Given the description of an element on the screen output the (x, y) to click on. 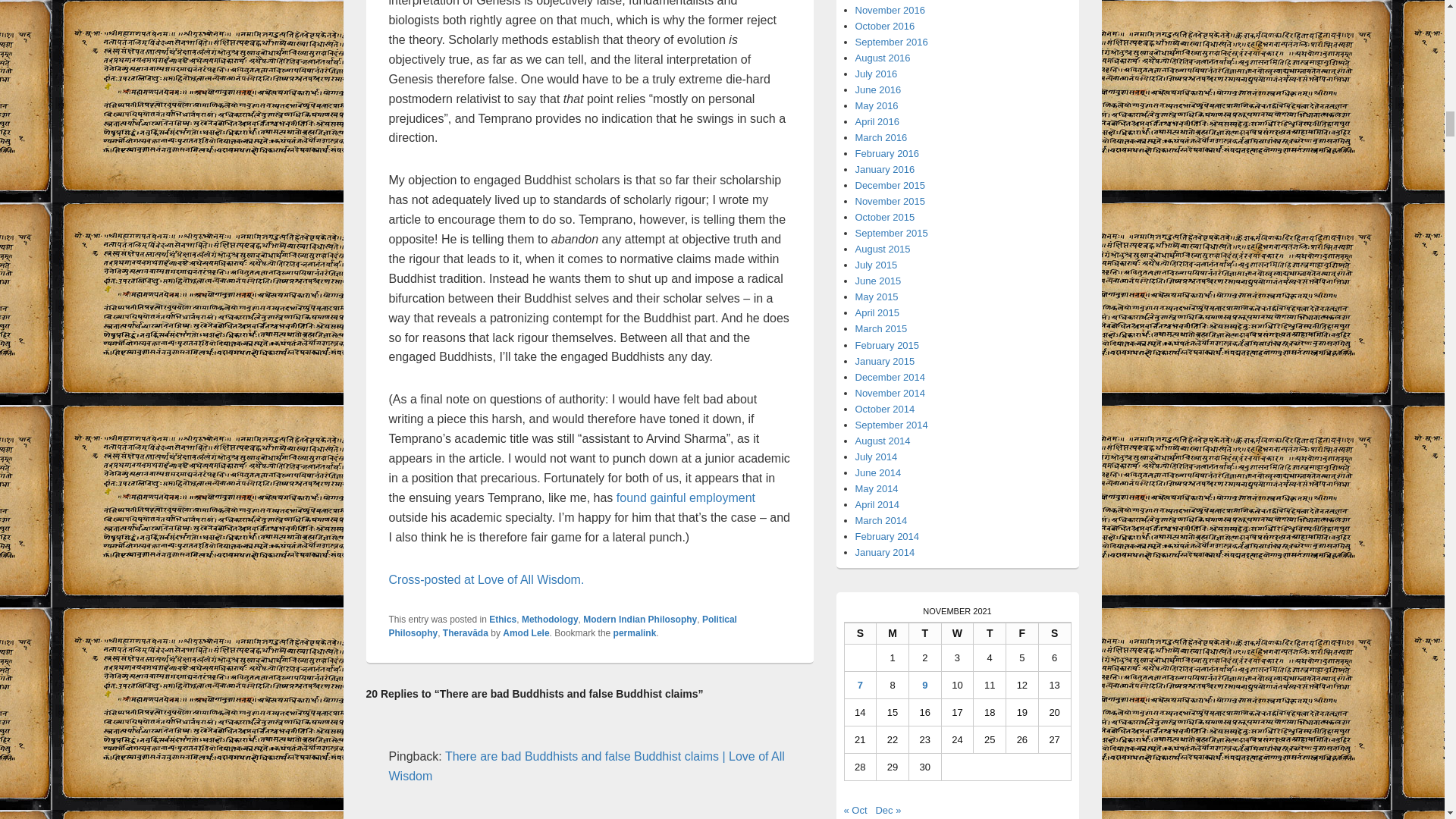
Sunday (860, 633)
Wednesday (958, 633)
Methodology (549, 619)
Ethics (502, 619)
Friday (1022, 633)
permalink (634, 633)
Monday (892, 633)
Thursday (990, 633)
Tuesday (925, 633)
Amod Lele (525, 633)
Modern Indian Philosophy (640, 619)
Saturday (1055, 633)
found gainful employment (685, 497)
Cross-posted at Love of All Wisdom. (485, 579)
